Given the description of an element on the screen output the (x, y) to click on. 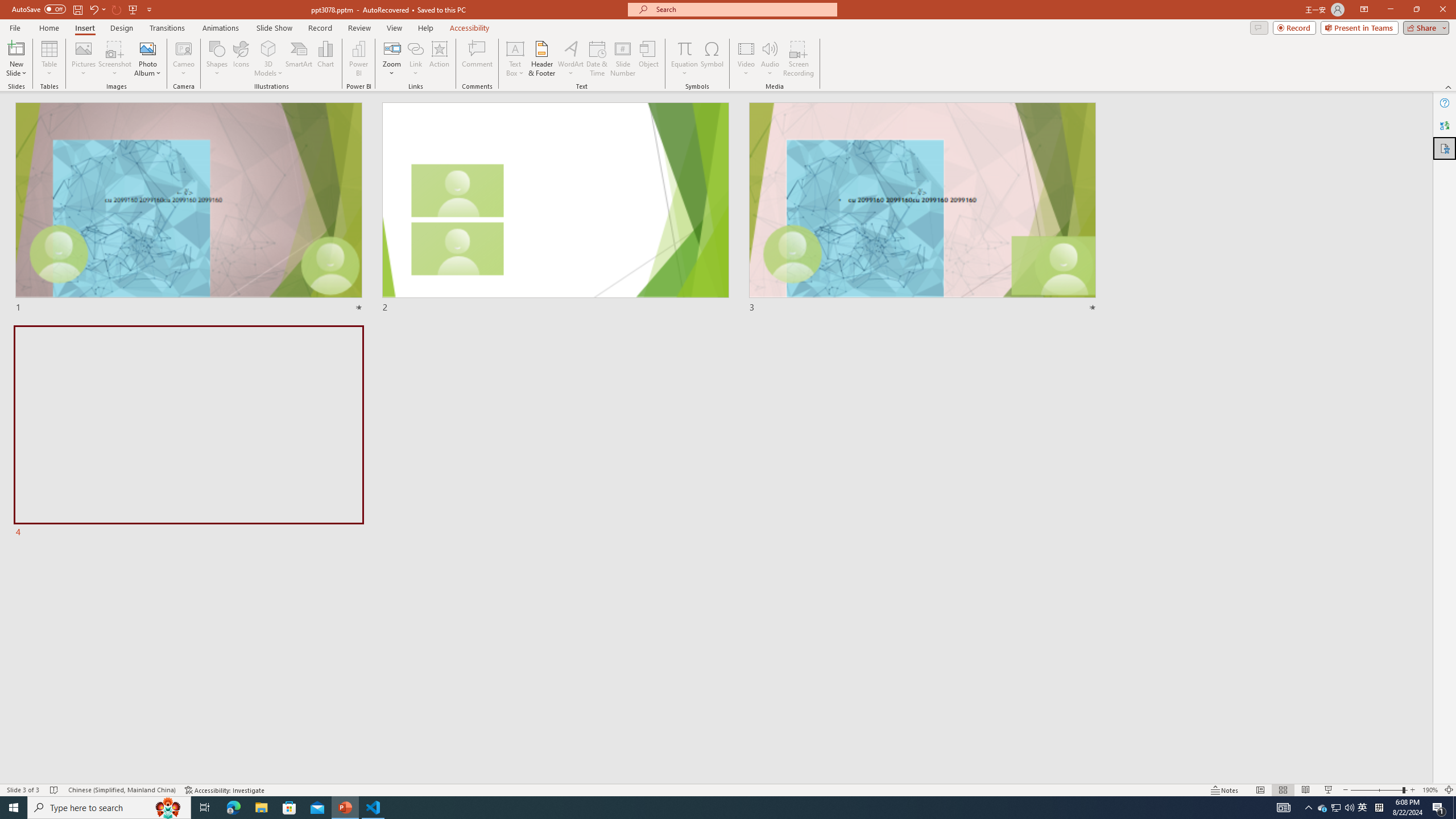
3D Models (268, 58)
Comment (476, 58)
Power BI (358, 58)
Photo Album... (147, 58)
